Given the description of an element on the screen output the (x, y) to click on. 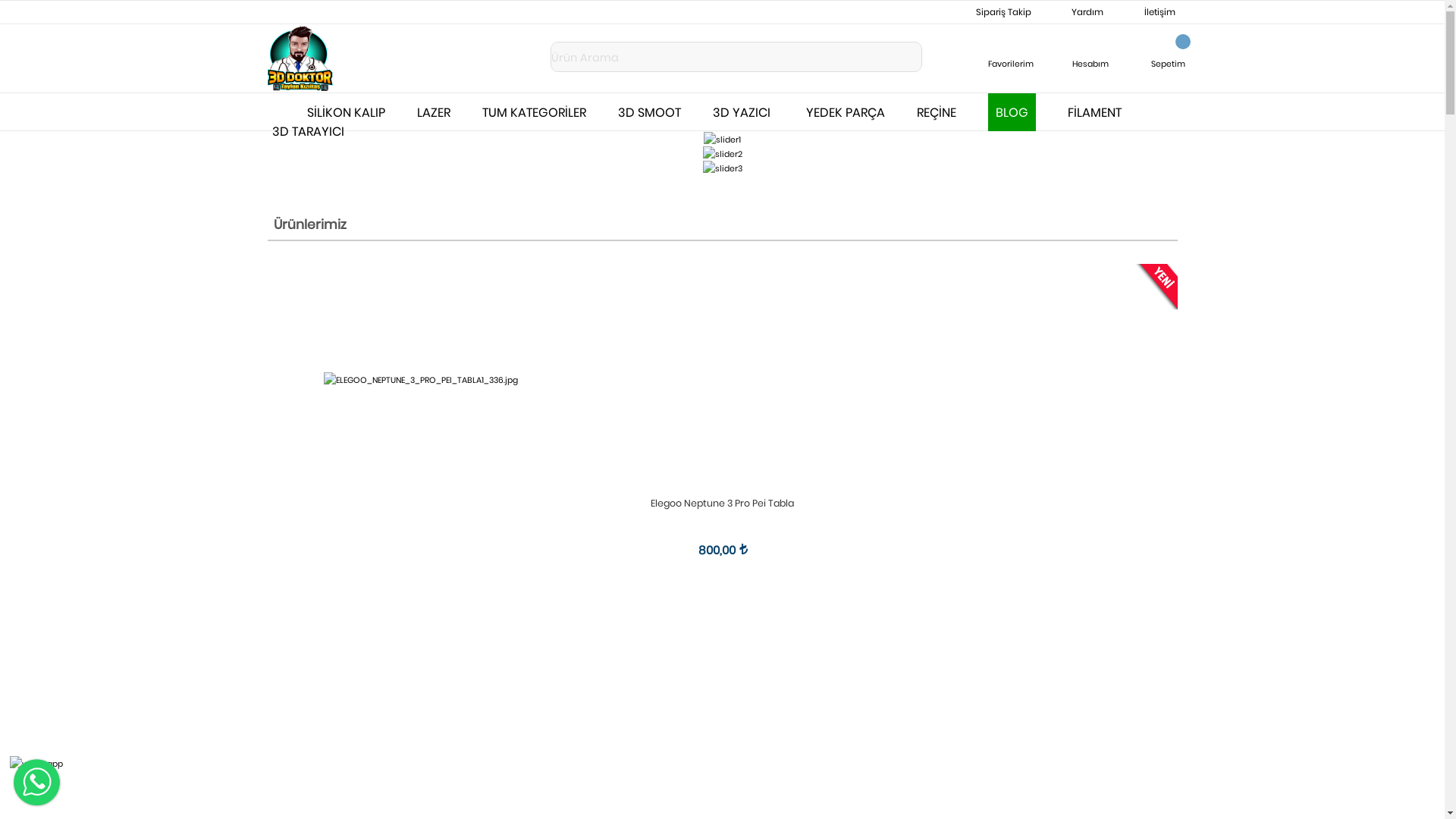
LAZER Element type: text (433, 112)
Elegoo Neptune 3 Pro Pei Tabla


800,00 Element type: text (721, 421)
FILAMENT Element type: text (1096, 112)
3D SMOOT Element type: text (648, 112)
3D TARAYICI Element type: text (307, 131)
BLOG Element type: text (1010, 112)
Favorilerim Element type: text (1010, 52)
TUM KATEGORILER Element type: text (533, 112)
SILIKON KALIP Element type: text (345, 112)
3D YAZICI Element type: text (743, 112)
